Given the description of an element on the screen output the (x, y) to click on. 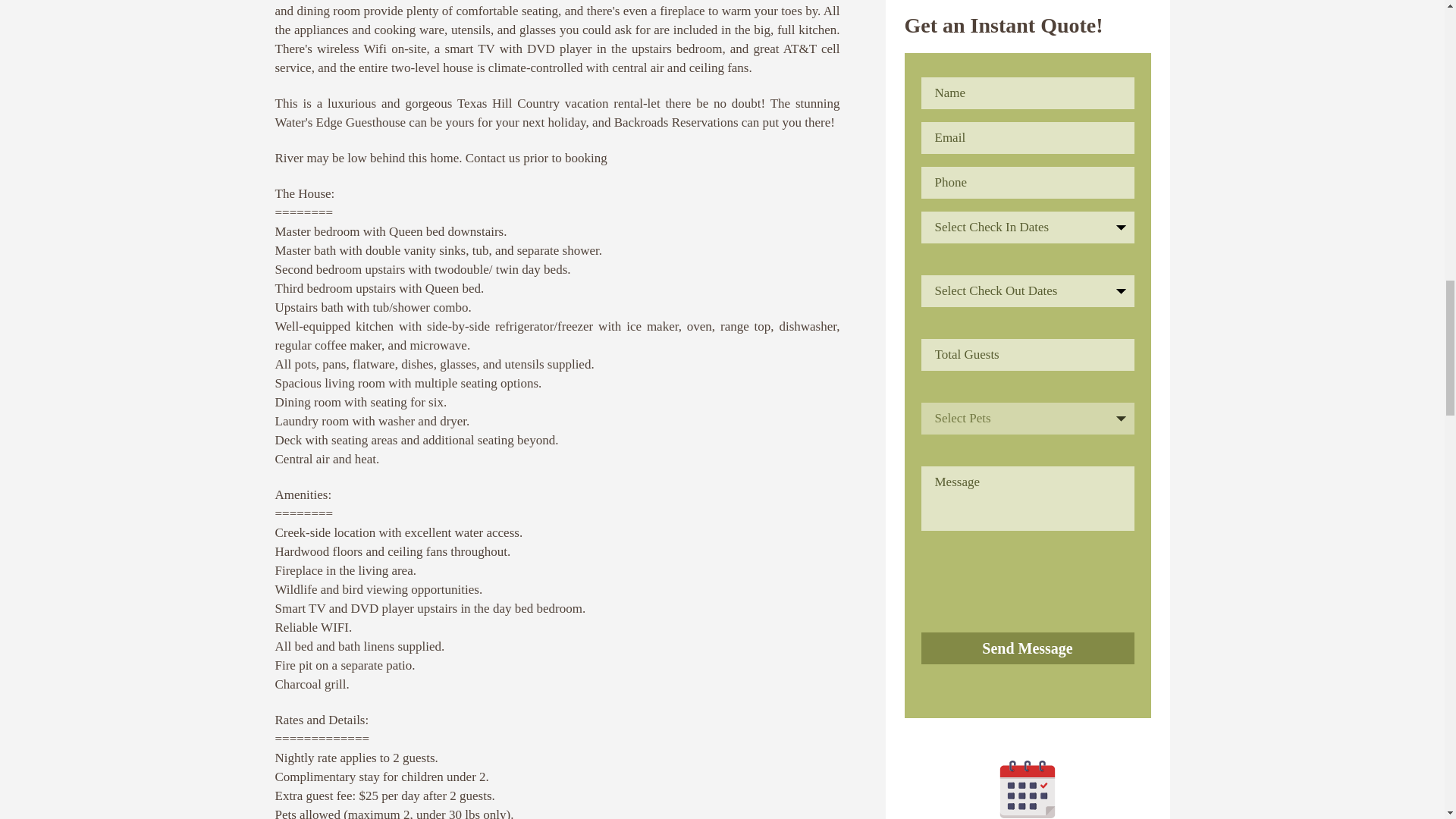
Send Message (1027, 648)
